Given the description of an element on the screen output the (x, y) to click on. 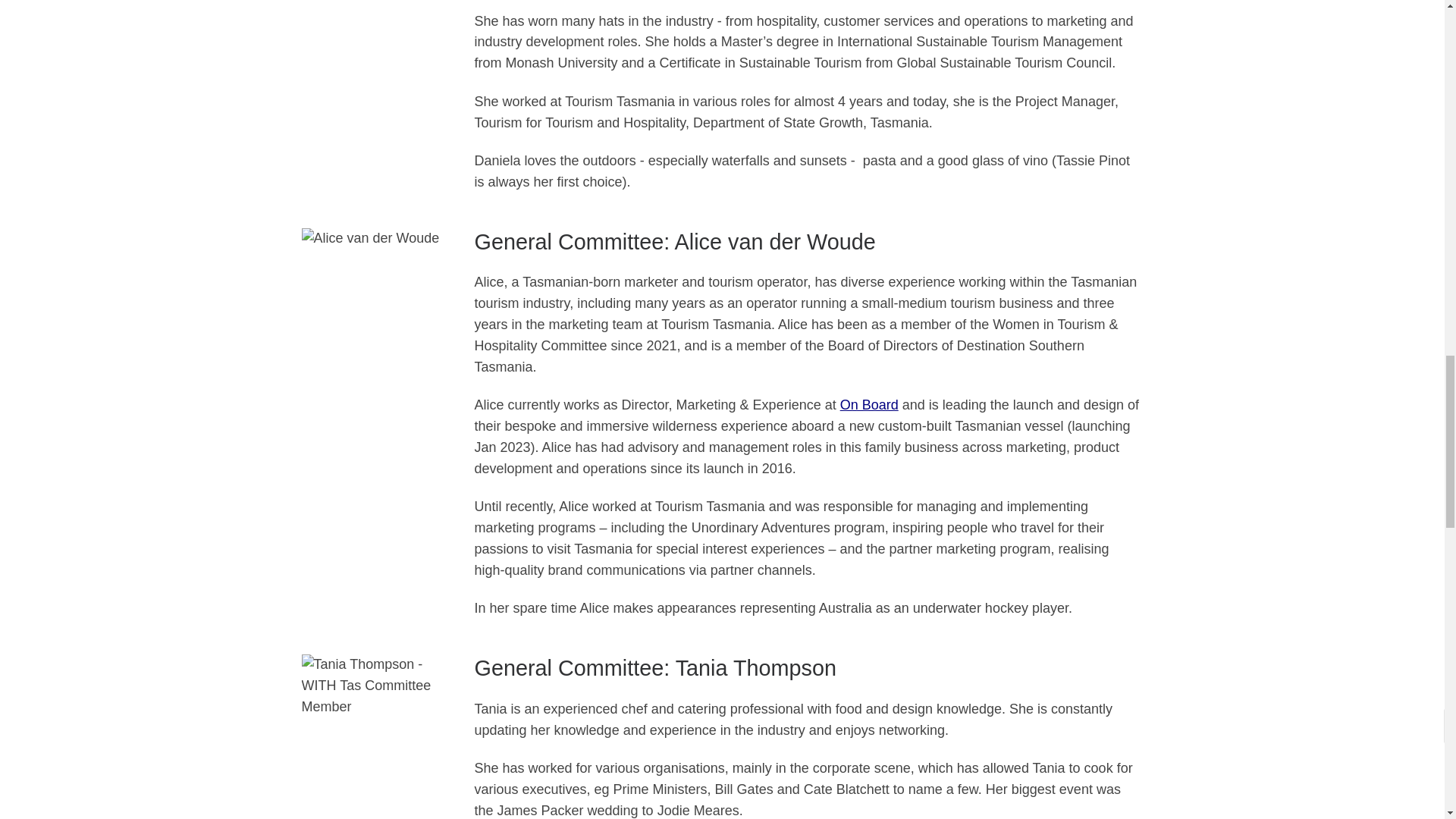
Daniela Ruiz (376, 7)
Tania Thompson - WITH Tas Committee Member (376, 736)
Alice van der Woude (376, 284)
